Given the description of an element on the screen output the (x, y) to click on. 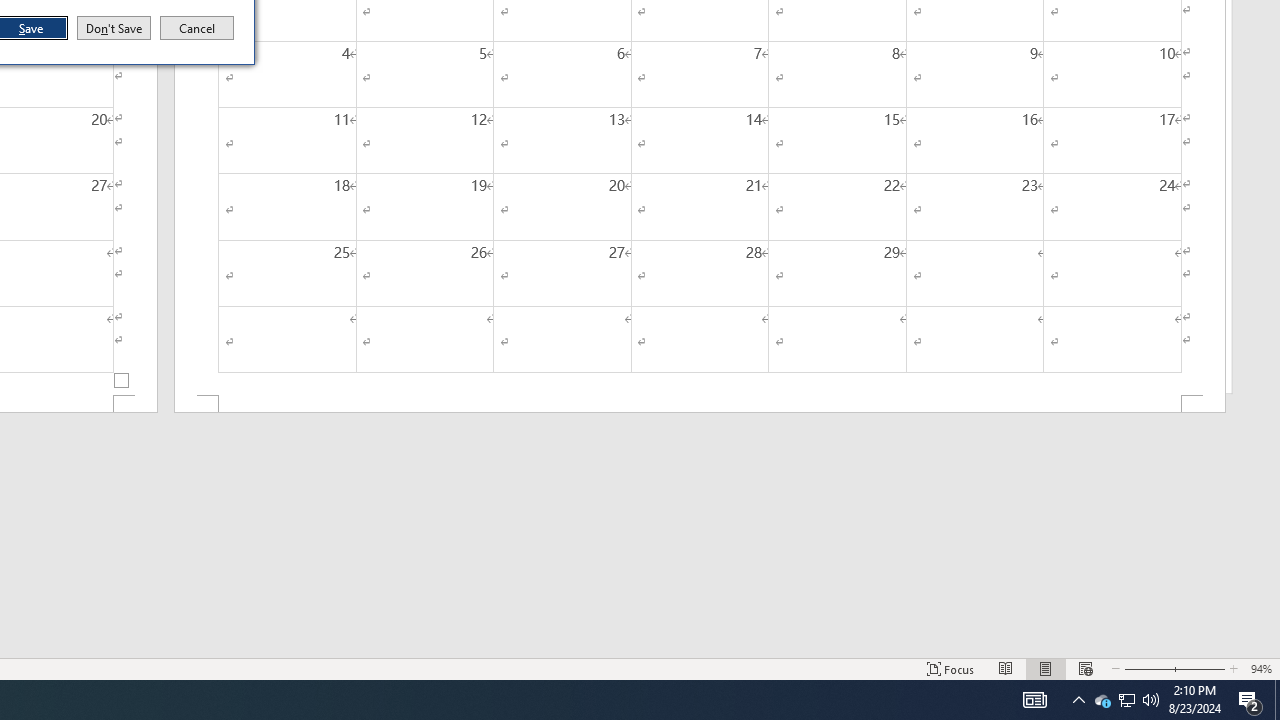
Q2790: 100% (1151, 699)
Notification Chevron (1102, 699)
Cancel (1078, 699)
Action Center, 2 new notifications (1126, 699)
Don't Save (197, 27)
Footer -Section 2- (1250, 699)
User Promoted Notification Area (113, 27)
